Given the description of an element on the screen output the (x, y) to click on. 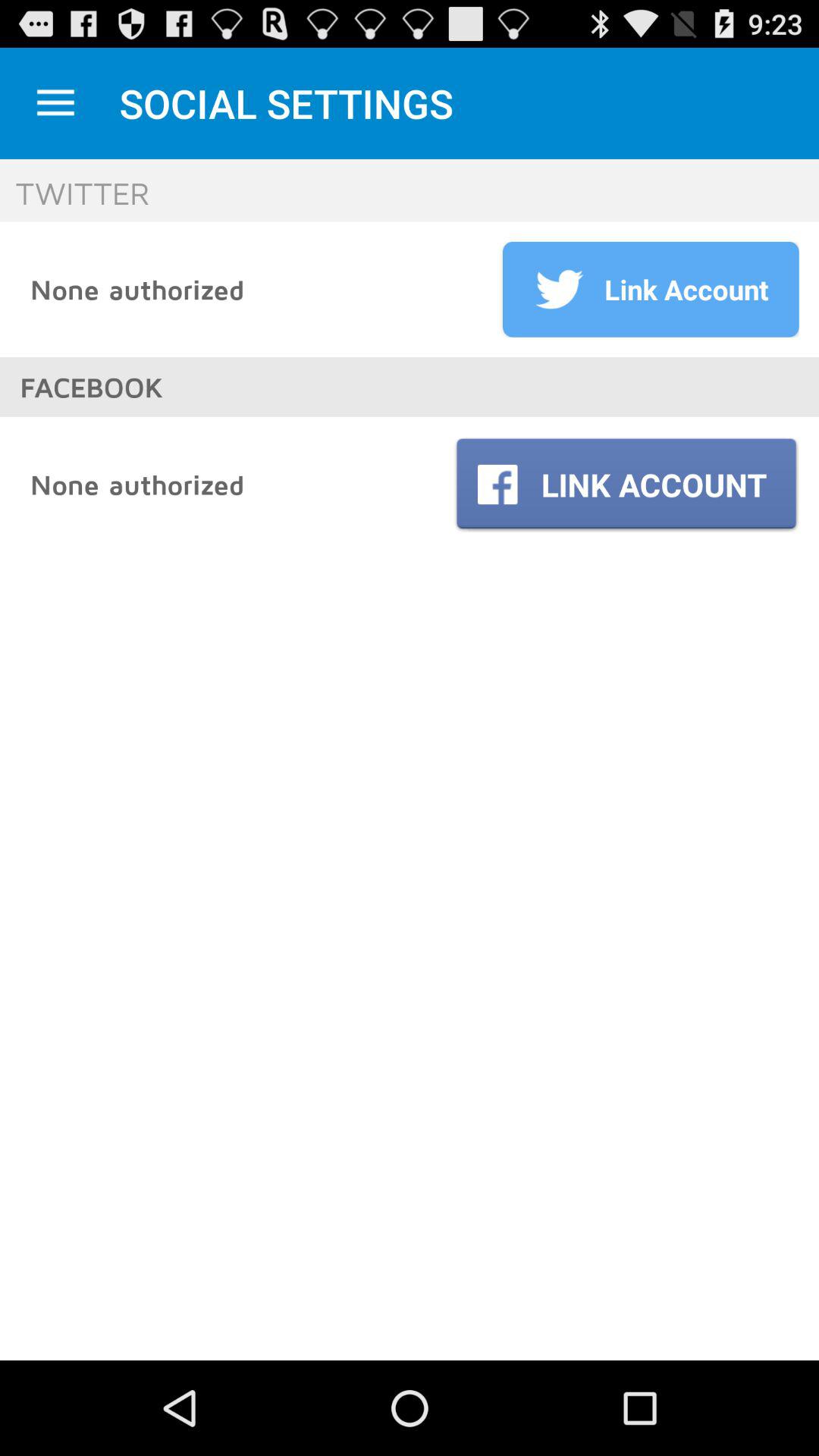
select the app next to the social settings icon (55, 103)
